Given the description of an element on the screen output the (x, y) to click on. 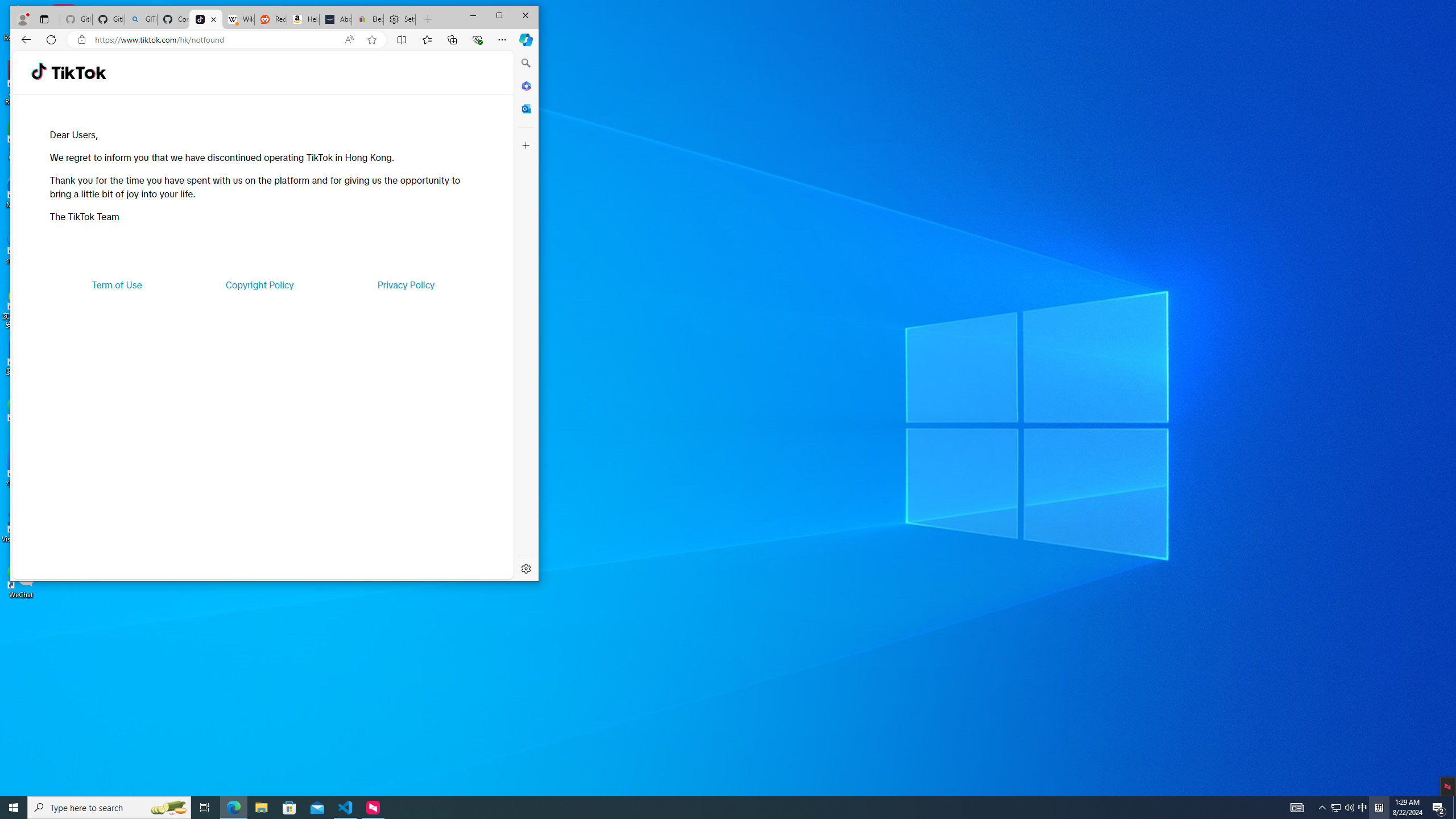
Term of Use (116, 284)
Running applications (707, 807)
